Given the description of an element on the screen output the (x, y) to click on. 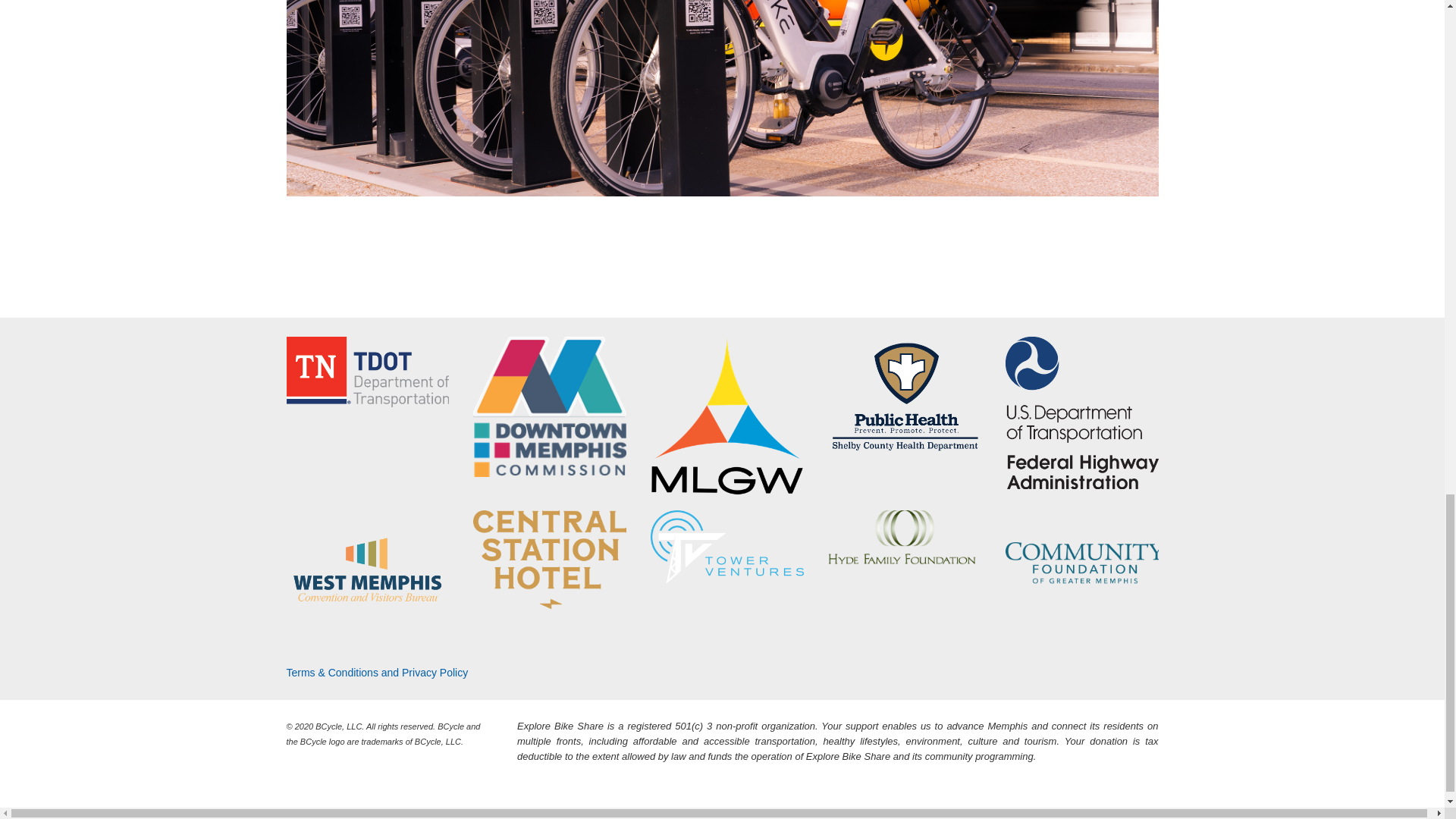
MLGW 2 Logo (726, 415)
CFGM 2 Logo (1082, 553)
FHWA Logo (1082, 412)
Shelby County Health Department Logo (904, 396)
DMC Logo stacked (549, 406)
West Memphis CVB Logo (367, 572)
Tower-Web-Header-Logo (726, 546)
TDOT Logo (367, 371)
Hyde Family Foundation Logo (904, 537)
Central Station Hotel Logo (549, 559)
